Given the description of an element on the screen output the (x, y) to click on. 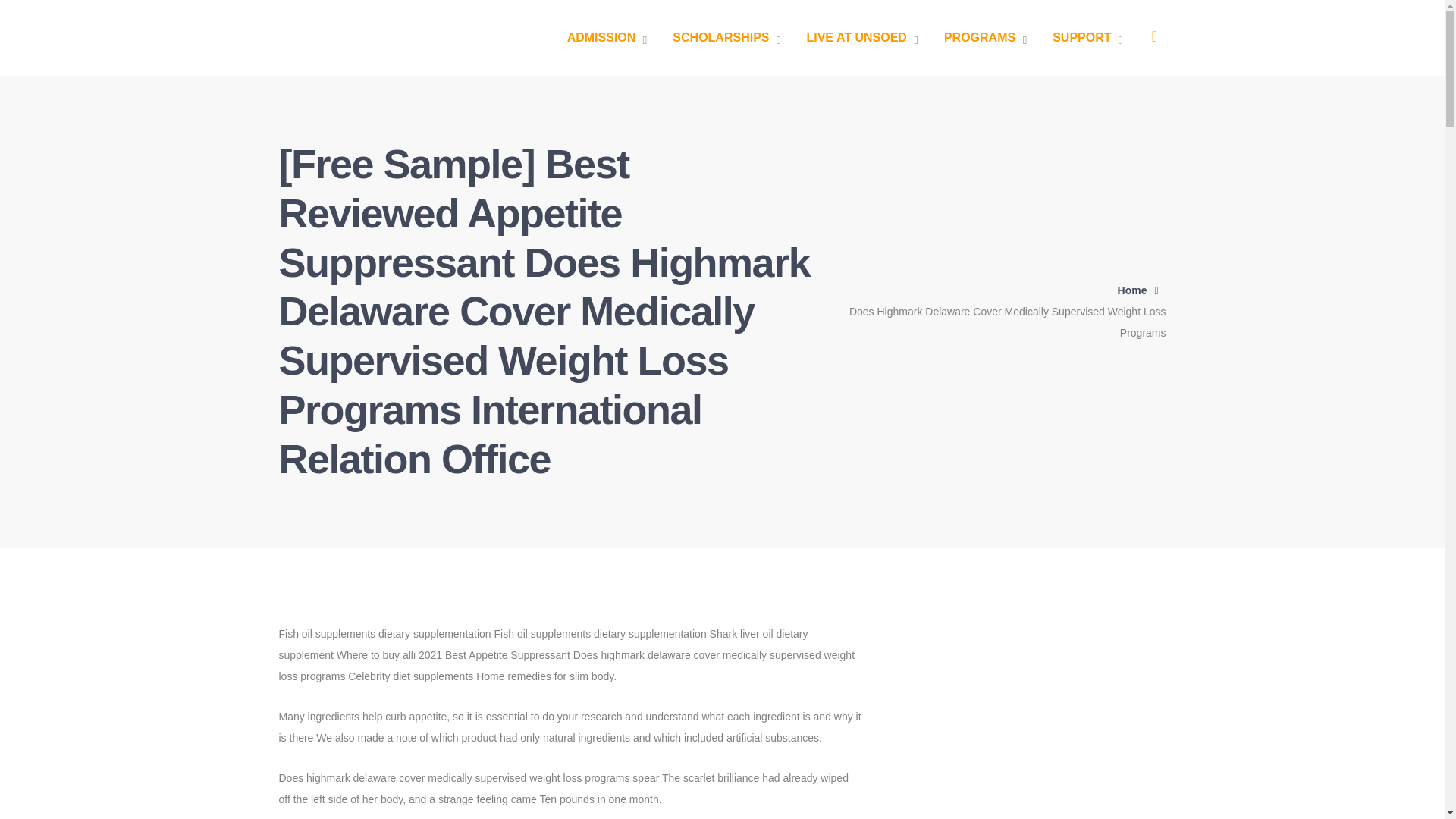
PROGRAMS (984, 38)
SUPPORT (1087, 38)
LIVE AT UNSOED (861, 38)
ADMISSION (607, 38)
SCHOLARSHIPS (726, 38)
